Given the description of an element on the screen output the (x, y) to click on. 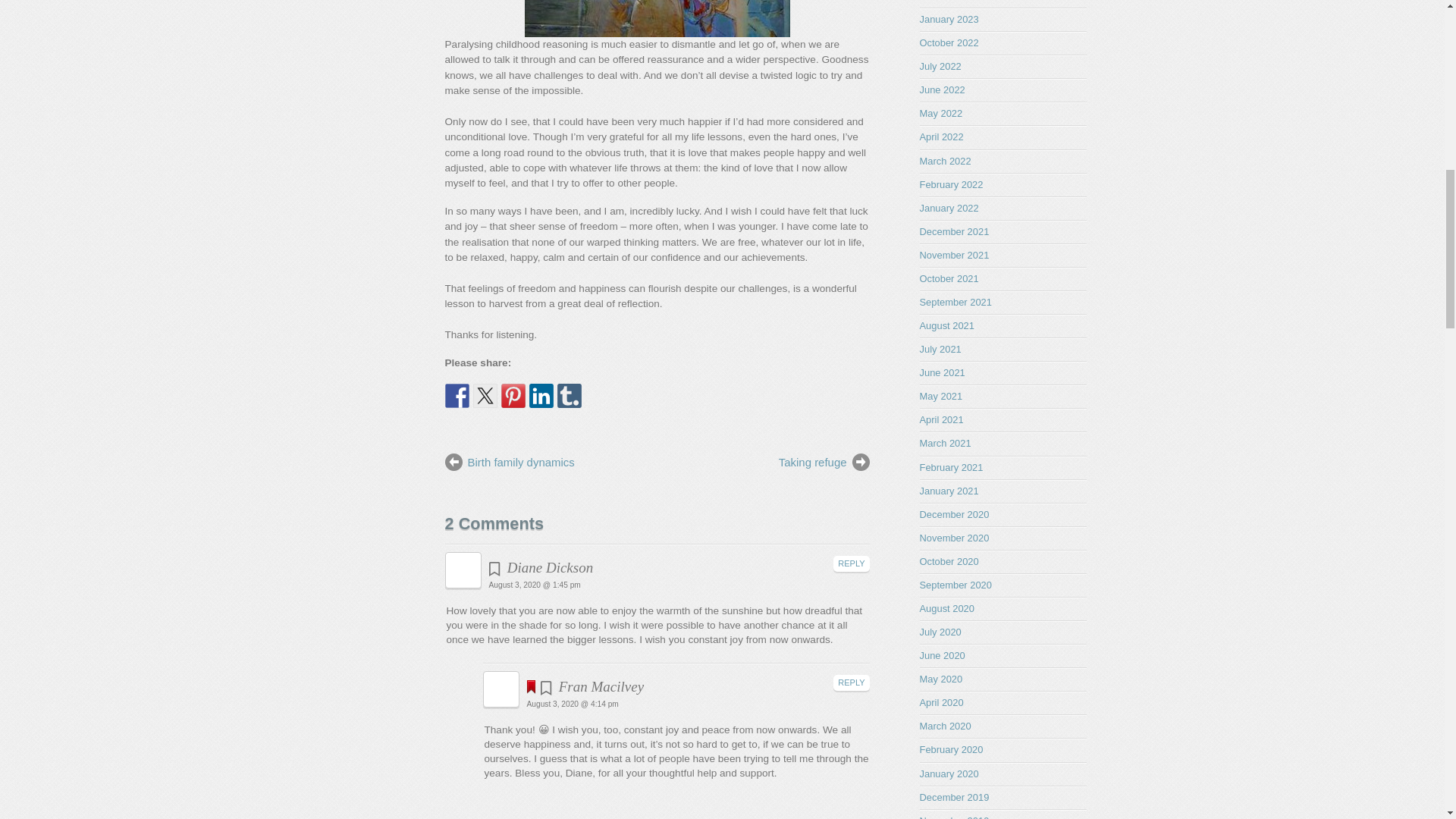
Birth family dynamics (539, 462)
Share on Twitter (485, 395)
REPLY (850, 563)
Share on tumblr (568, 395)
Share on Facebook (456, 395)
Share on Linkedin (541, 395)
Pin it with Pinterest (512, 395)
Taking refuge (773, 462)
REPLY (850, 682)
